Given the description of an element on the screen output the (x, y) to click on. 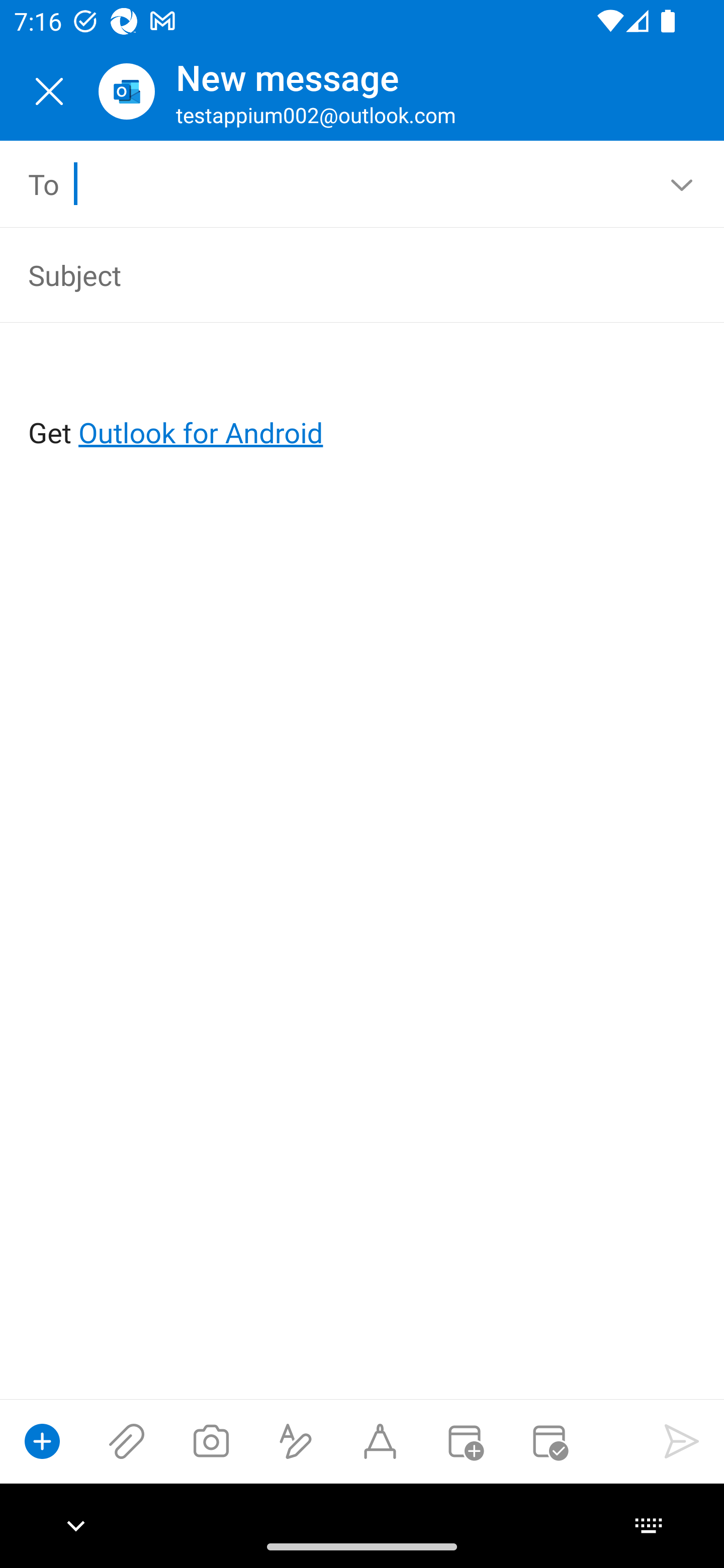
Close (49, 91)
Subject (333, 274)


Get Outlook for Android (363, 400)
Show compose options (42, 1440)
Attach files (126, 1440)
Take a photo (210, 1440)
Show formatting options (295, 1440)
Start Ink compose (380, 1440)
Convert to event (464, 1440)
Send availability (548, 1440)
Send (681, 1440)
